Given the description of an element on the screen output the (x, y) to click on. 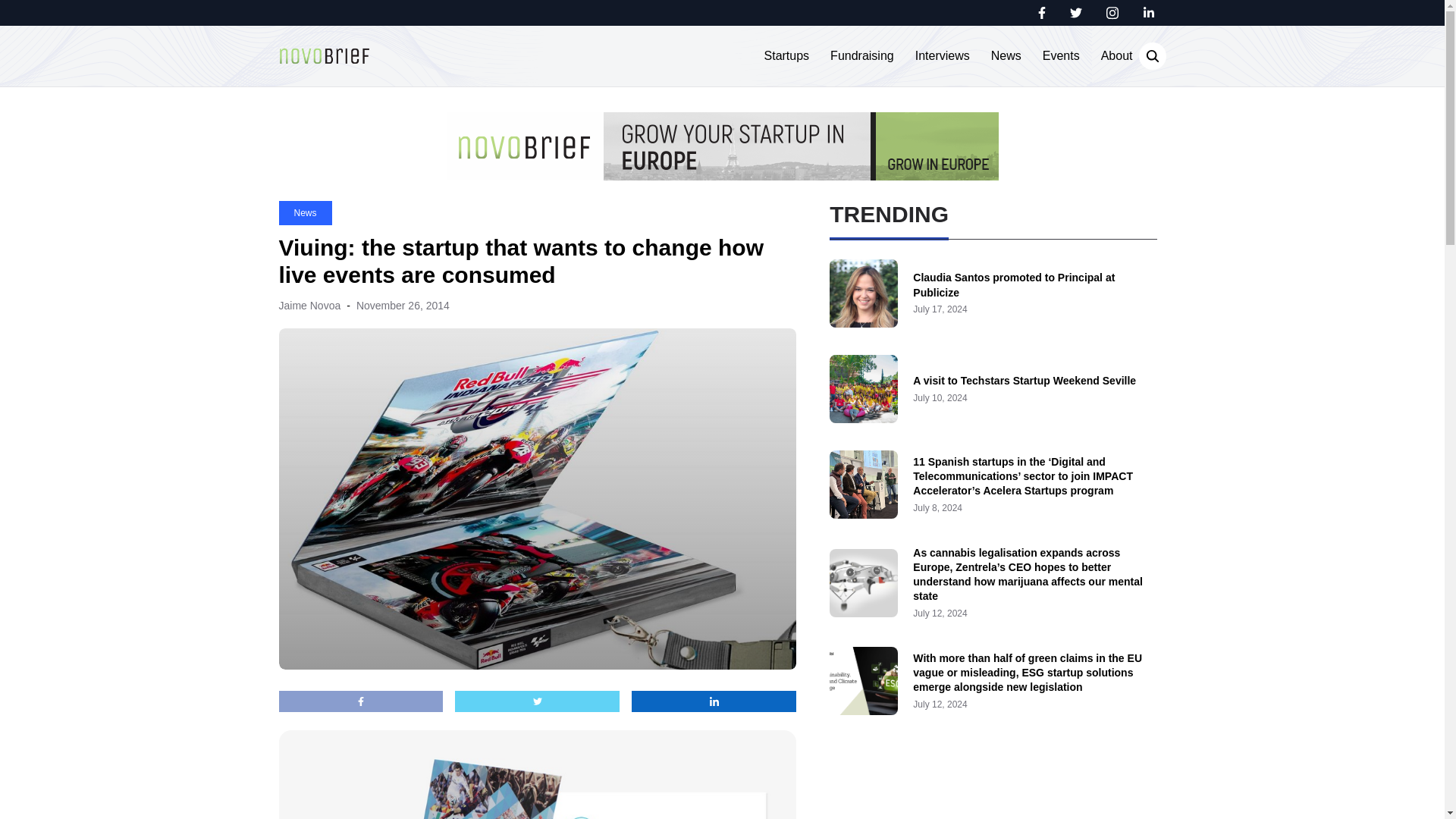
Interviews (942, 55)
News (1006, 55)
Events (1061, 55)
Fundraising (861, 55)
About (1116, 55)
Jaime Novoa (309, 305)
Startups (786, 55)
News (305, 212)
